Given the description of an element on the screen output the (x, y) to click on. 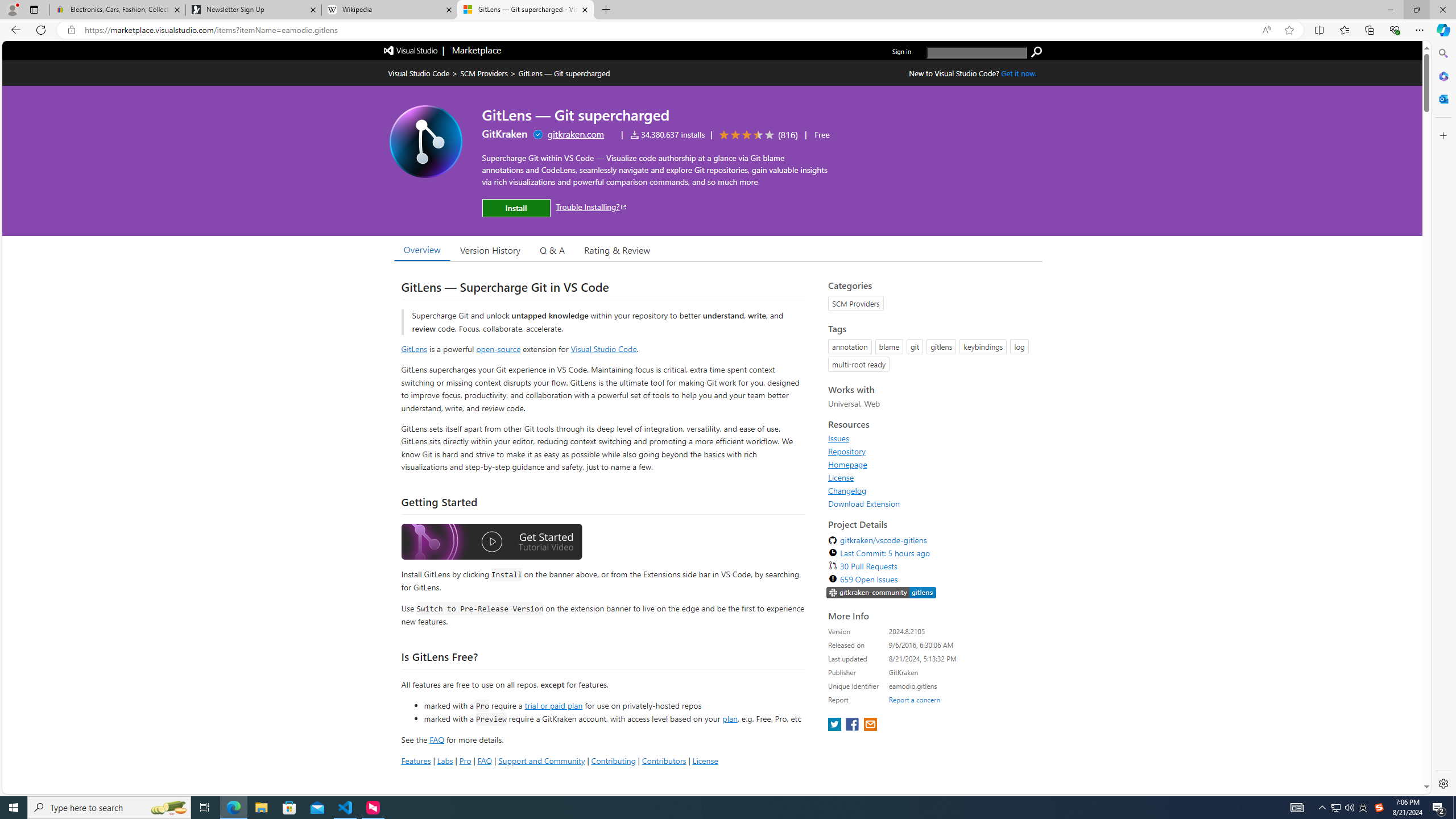
search (976, 52)
gitkraken.com (575, 133)
Contributors (663, 760)
Repository (931, 451)
Rating & Review (618, 249)
Changelog (931, 490)
open-source (498, 348)
Report a concern (914, 699)
Get Visual Studio Code Now (1018, 72)
